Given the description of an element on the screen output the (x, y) to click on. 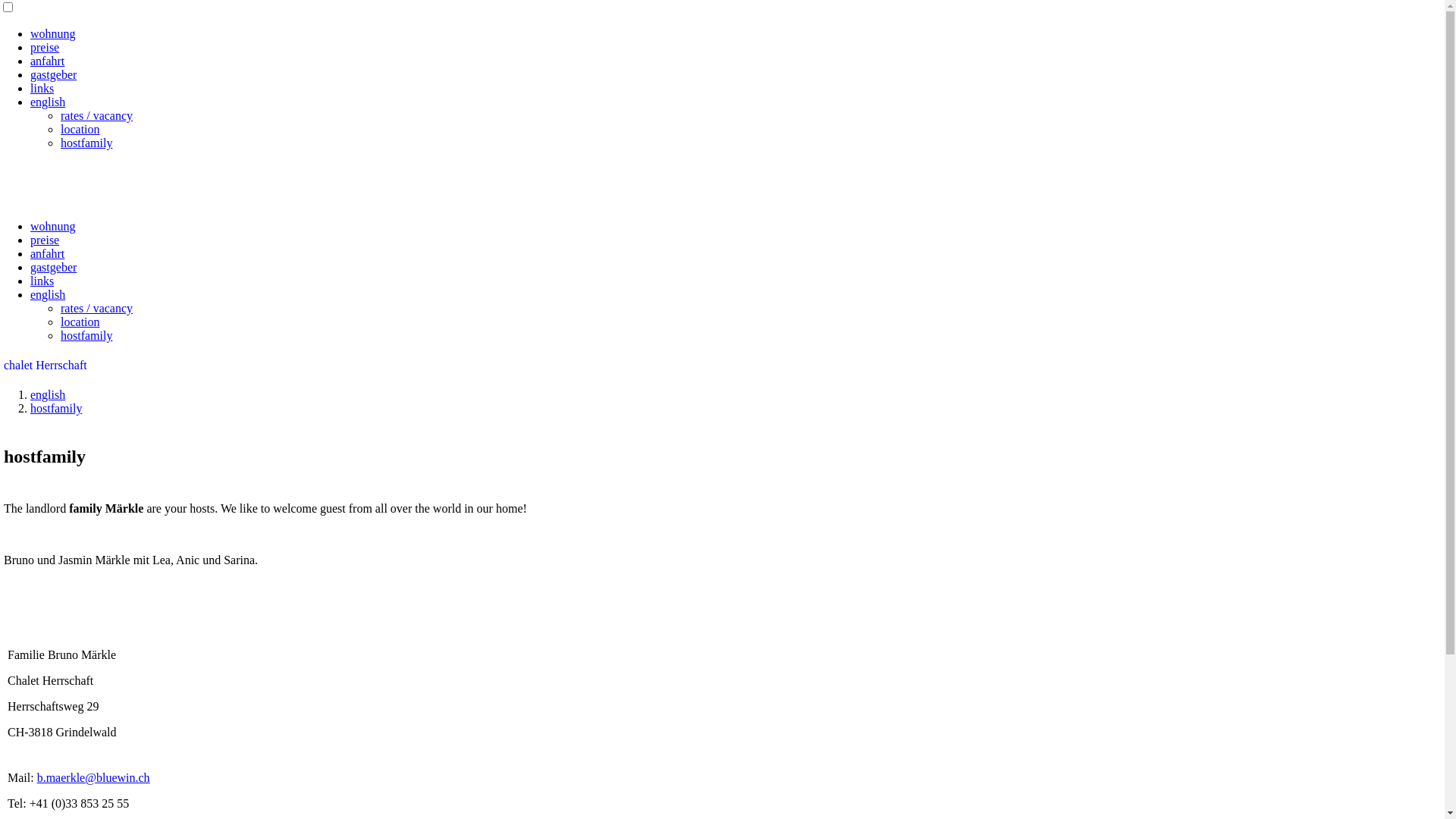
gastgeber Element type: text (53, 74)
english Element type: text (47, 101)
anfahrt Element type: text (47, 253)
location Element type: text (80, 128)
gastgeber Element type: text (53, 266)
rates / vacancy Element type: text (96, 115)
hostfamily Element type: text (86, 335)
hostfamily Element type: text (86, 142)
rates / vacancy Element type: text (96, 307)
preise Element type: text (44, 46)
anfahrt Element type: text (47, 60)
wohnung Element type: text (52, 33)
location Element type: text (80, 321)
english Element type: text (47, 394)
b.maerkle@bluewin.ch Element type: text (93, 777)
preise Element type: text (44, 239)
hostfamily Element type: text (55, 407)
links Element type: text (41, 87)
english Element type: text (47, 294)
links Element type: text (41, 280)
chalet Herrschaft Element type: text (45, 364)
wohnung Element type: text (52, 225)
